Given the description of an element on the screen output the (x, y) to click on. 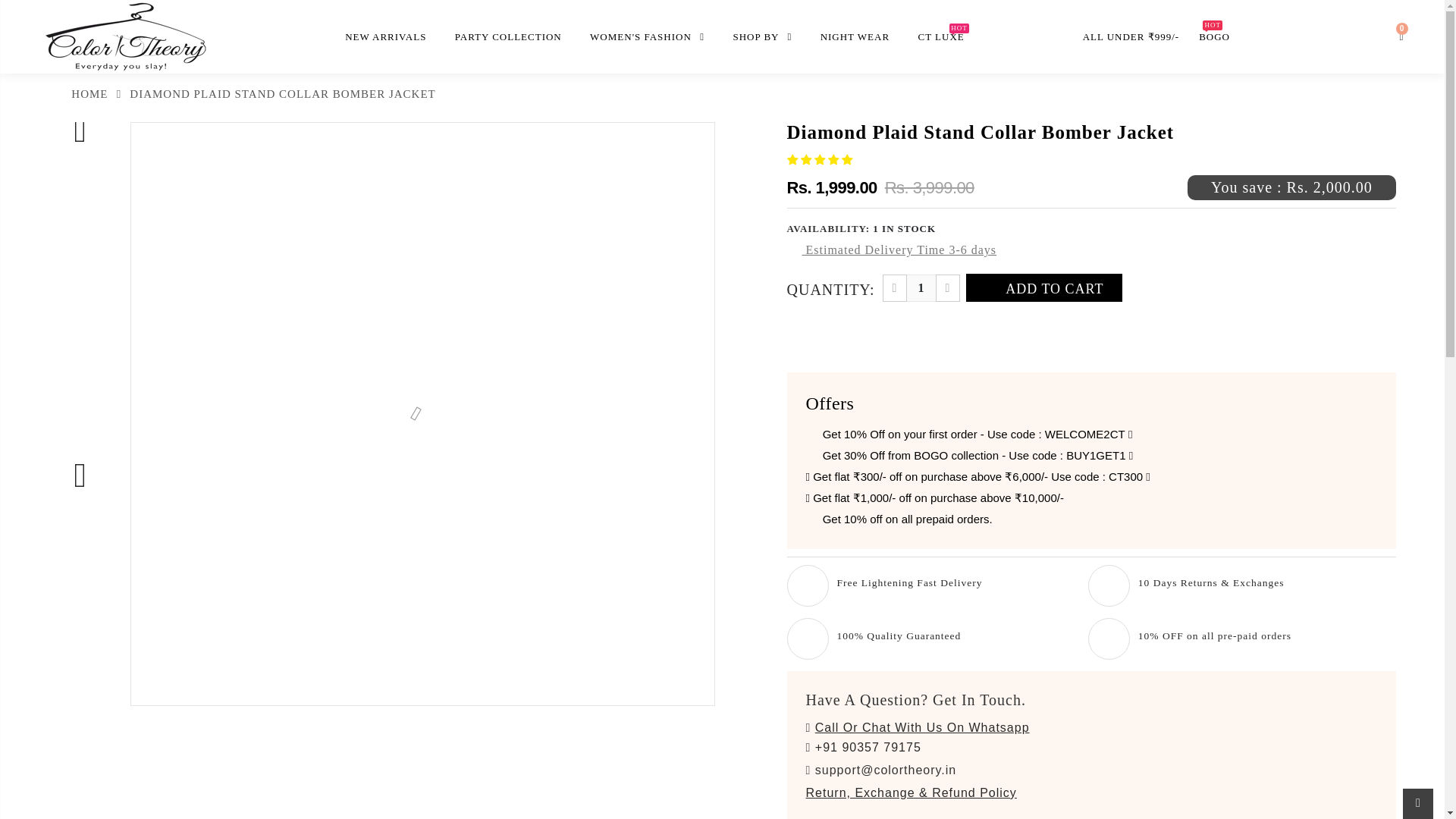
Back to the frontpage (77, 93)
WOMEN'S FASHION (646, 35)
SHOP BY (761, 35)
1 (920, 288)
NEW ARRIVALS (384, 35)
PARTY COLLECTION (507, 35)
My Account (1362, 39)
